Given the description of an element on the screen output the (x, y) to click on. 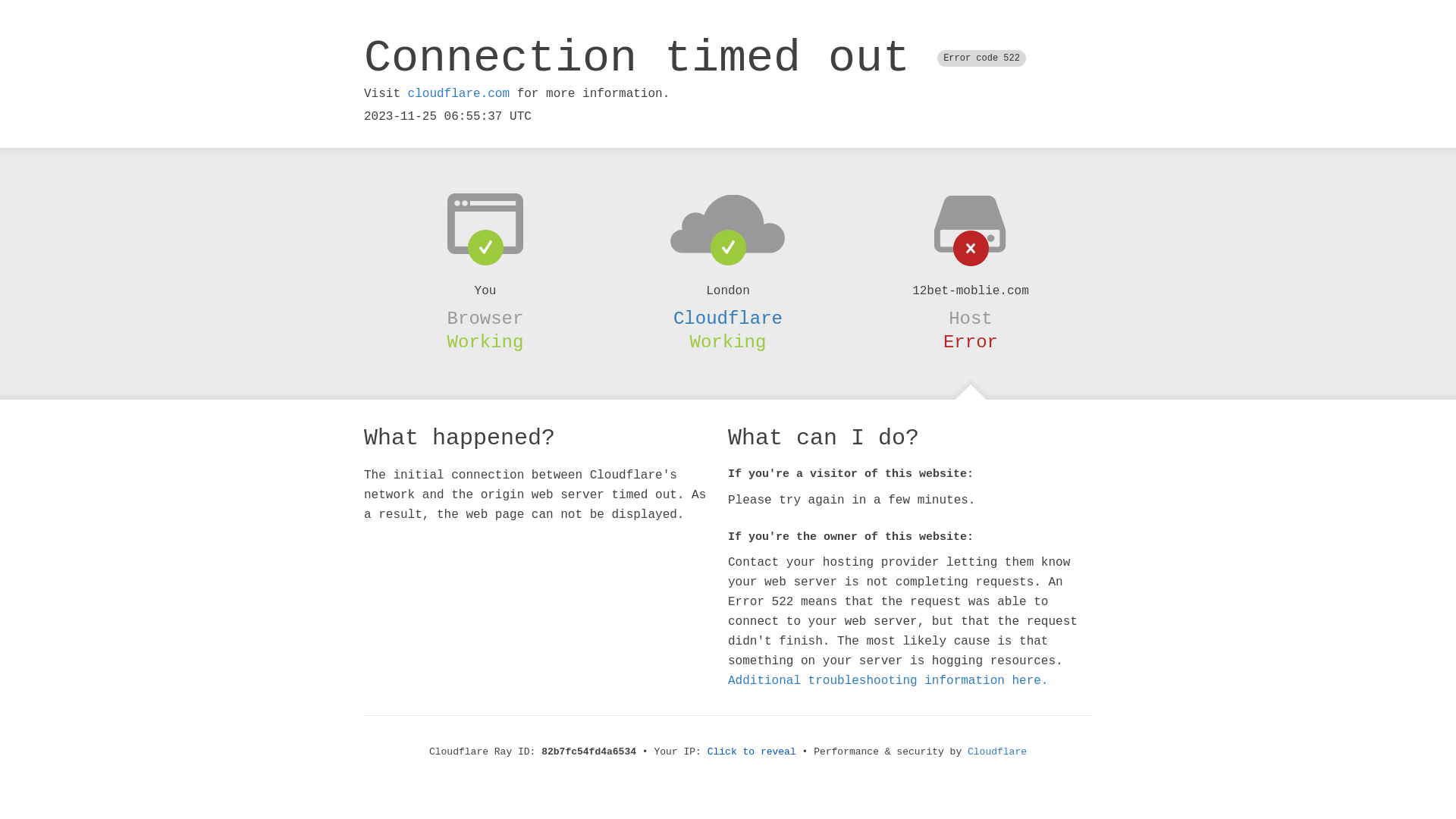
Cloudflare Element type: text (996, 751)
Additional troubleshooting information here. Element type: text (888, 680)
Cloudflare Element type: text (727, 318)
Click to reveal Element type: text (751, 751)
cloudflare.com Element type: text (458, 93)
